Given the description of an element on the screen output the (x, y) to click on. 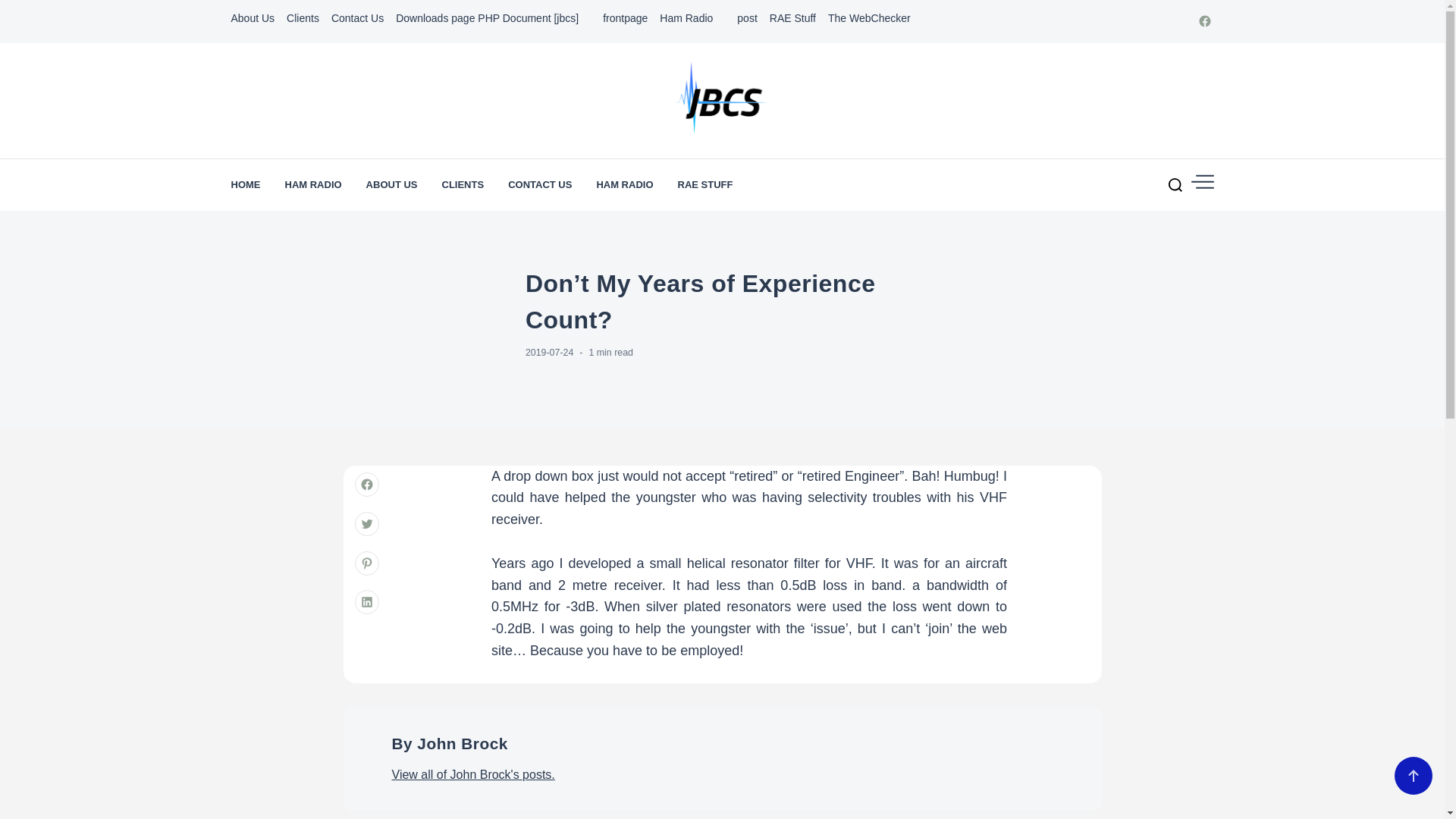
About Us (252, 18)
Contact Us (357, 18)
CONTACT US (540, 184)
post (746, 18)
frontpage (624, 18)
John Brock Computing Services (1003, 174)
2019-07-24 (549, 352)
RAE Stuff (792, 18)
Ham Radio (692, 18)
RAE STUFF (705, 184)
HAM RADIO (313, 184)
ABOUT US (391, 184)
View all of John Brock's posts. (472, 774)
Clients (302, 18)
The WebChecker (869, 18)
